Given the description of an element on the screen output the (x, y) to click on. 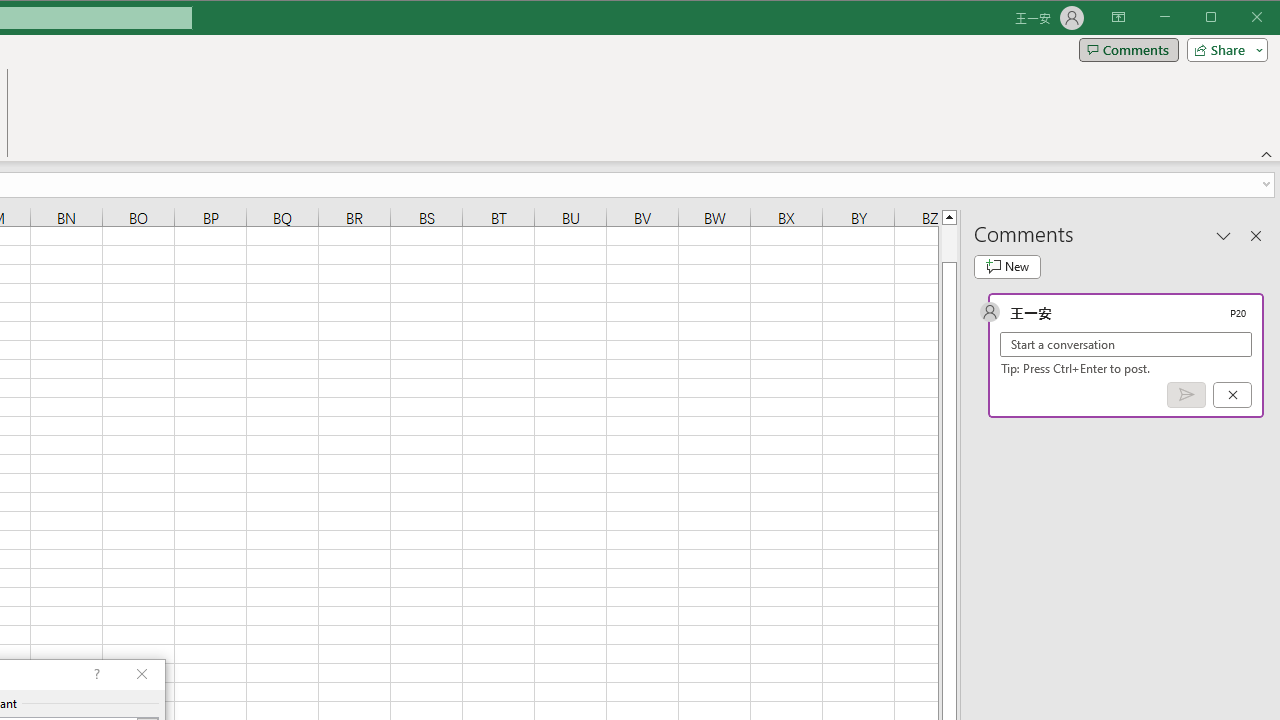
Post comment (Ctrl + Enter) (1186, 395)
New comment (1007, 266)
Cancel (1232, 395)
Maximize (1239, 18)
Start a conversation (1126, 344)
Page up (948, 243)
